Given the description of an element on the screen output the (x, y) to click on. 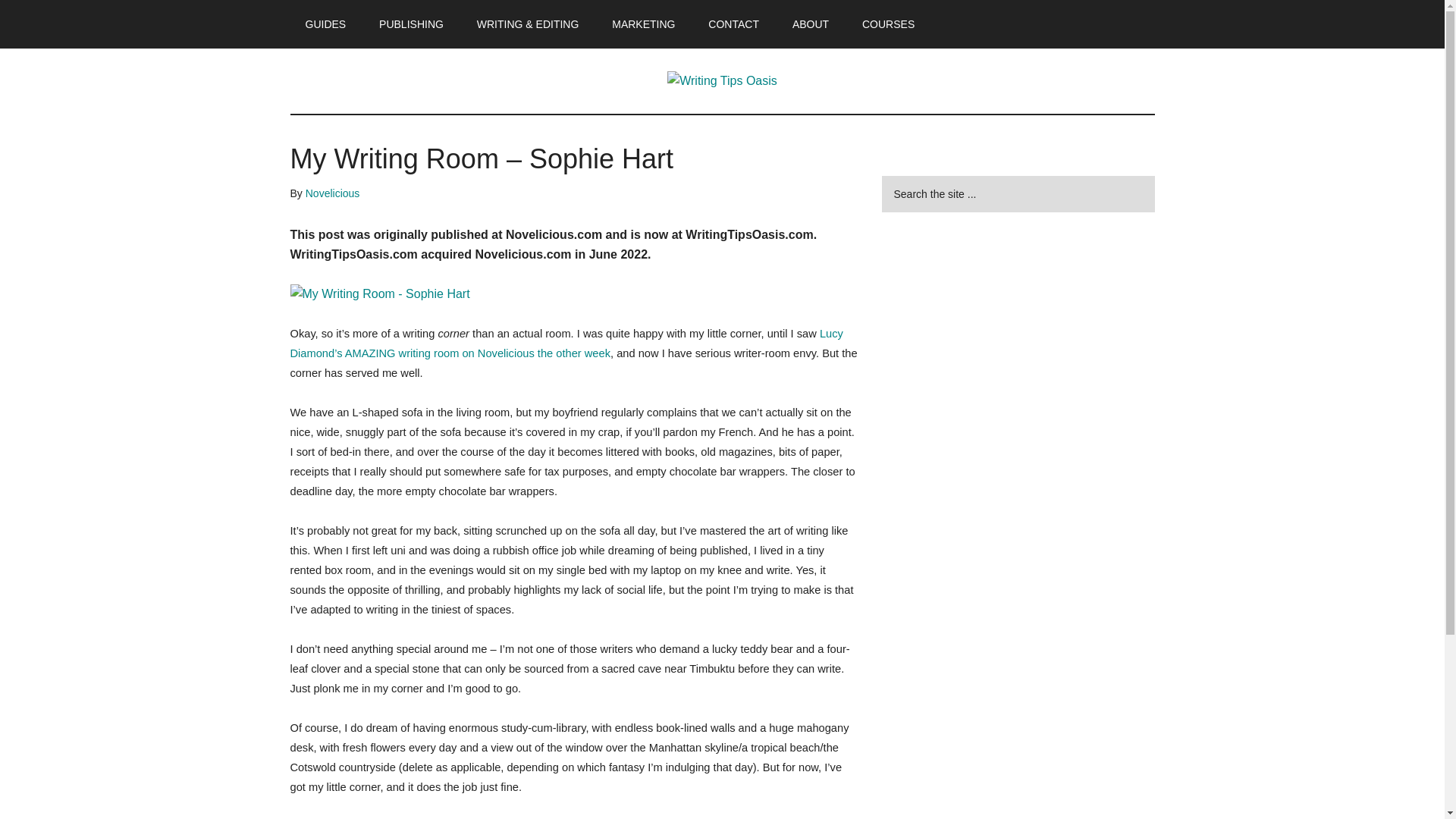
Novelicious (332, 193)
PUBLISHING (411, 24)
GUIDES (325, 24)
My Writing Room - Sophie Hart (574, 293)
CONTACT (733, 24)
MARKETING (643, 24)
COURSES (888, 24)
